Given the description of an element on the screen output the (x, y) to click on. 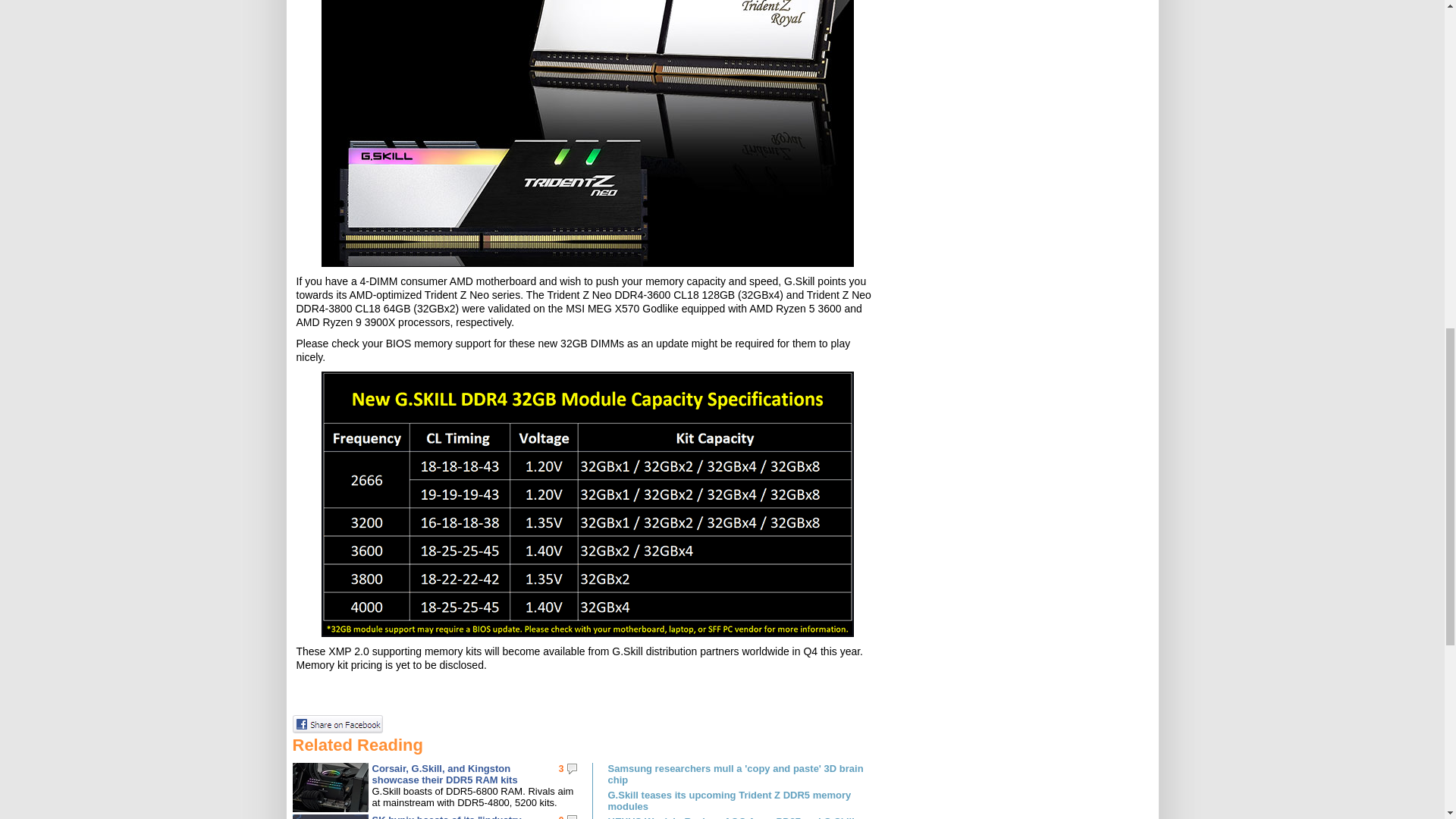
3 (561, 768)
G.Skill teases its upcoming Trident Z DDR5 memory modules (744, 800)
SK hynix boasts of its "industry first" HBM3 development (446, 816)
Samsung researchers mull a 'copy and paste' 3D brain chip (744, 773)
0 (561, 816)
Corsair, G.Skill, and Kingston showcase their DDR5 RAM kits (443, 773)
